Given the description of an element on the screen output the (x, y) to click on. 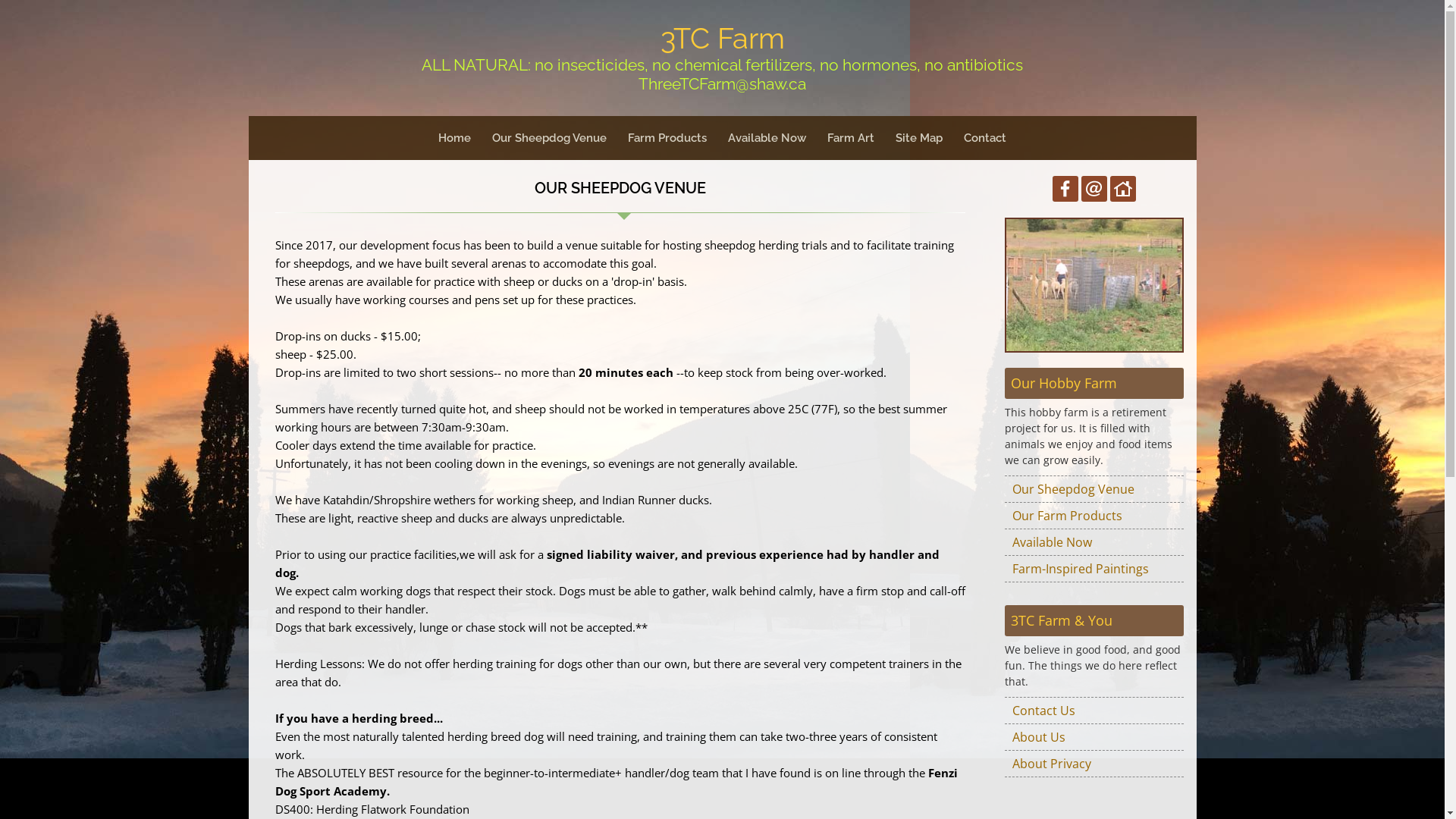
Farm Products Element type: text (667, 138)
About Us Element type: text (1093, 737)
Our Sheepdog Venue Element type: text (549, 138)
Farm Art Element type: text (850, 138)
Our Farm Products Element type: text (1093, 515)
Farm-Inspired Paintings Element type: text (1093, 568)
Contact Element type: text (984, 138)
Available Now Element type: text (1093, 542)
Home Element type: text (454, 138)
About Privacy Element type: text (1093, 763)
Contact Us Element type: text (1093, 710)
Our Sheepdog Venue Element type: text (1093, 488)
3TC Farm Element type: text (721, 38)
Available Now Element type: text (766, 138)
Site Map Element type: text (918, 138)
